Given the description of an element on the screen output the (x, y) to click on. 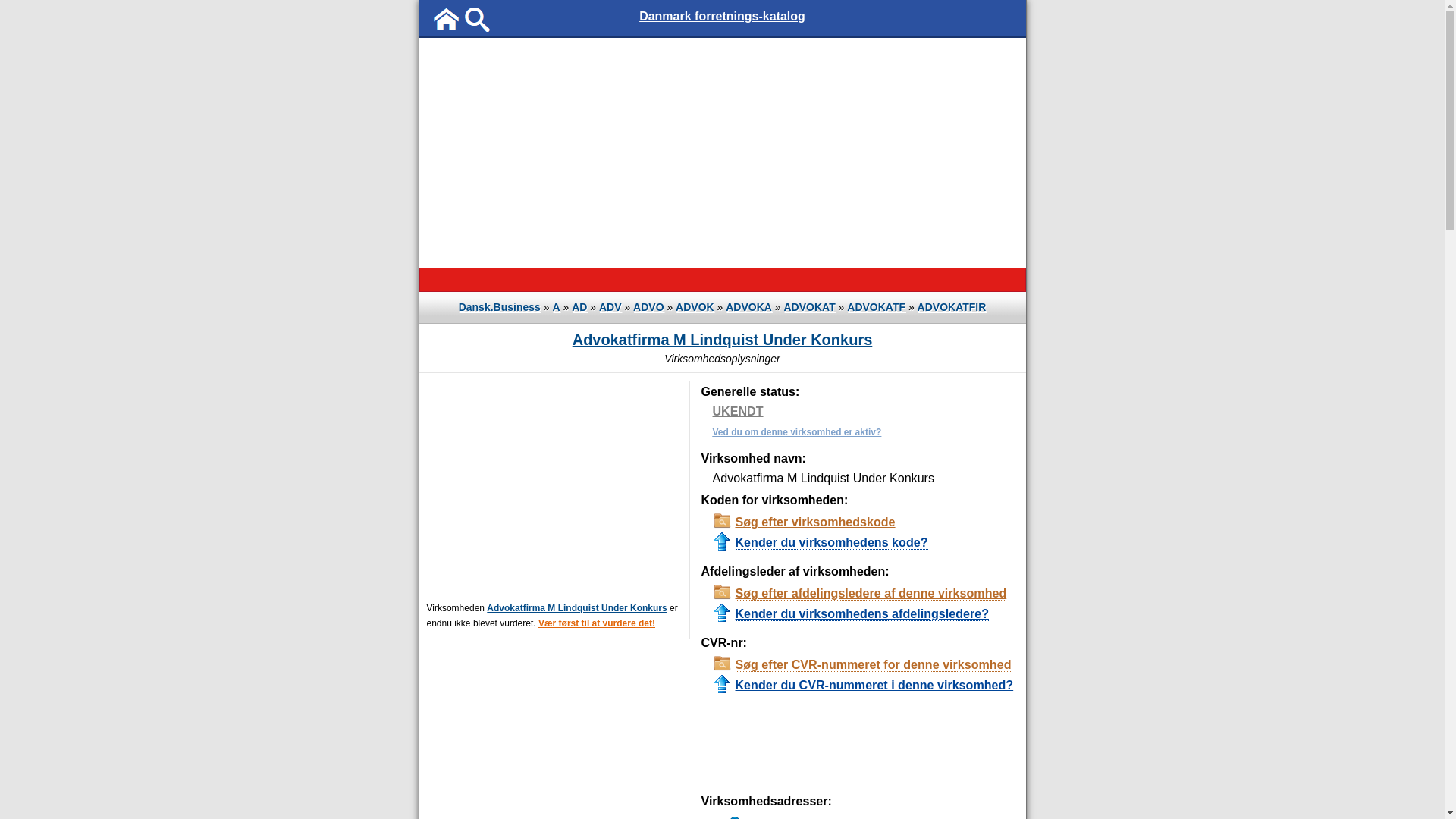
ADVOKAT Element type: text (809, 307)
Advertisement Element type: hover (721, 151)
ADVOKATFIR Element type: text (951, 307)
Danmark forretnings-katalog Element type: text (722, 15)
Dansk.Business Element type: text (499, 307)
Kender du virksomhedens kode? Element type: text (863, 542)
ADVOKA Element type: text (748, 307)
ADV Element type: text (610, 307)
AD Element type: text (578, 307)
Advertisement Element type: hover (773, 744)
Advokatfirma M Lindquist Under Konkurs Element type: text (576, 607)
ADVOK Element type: text (694, 307)
Kender du virksomhedens afdelingsledere? Element type: text (863, 613)
Kender du CVR-nummeret i denne virksomhed? Element type: text (863, 684)
ADVOKATF Element type: text (876, 307)
Advokatfirma M Lindquist Under Konkurs Element type: text (722, 339)
Advertisement Element type: hover (553, 486)
A Element type: text (555, 307)
Ved du om denne virksomhed er aktiv? Element type: text (863, 430)
ADVO Element type: text (648, 307)
